Given the description of an element on the screen output the (x, y) to click on. 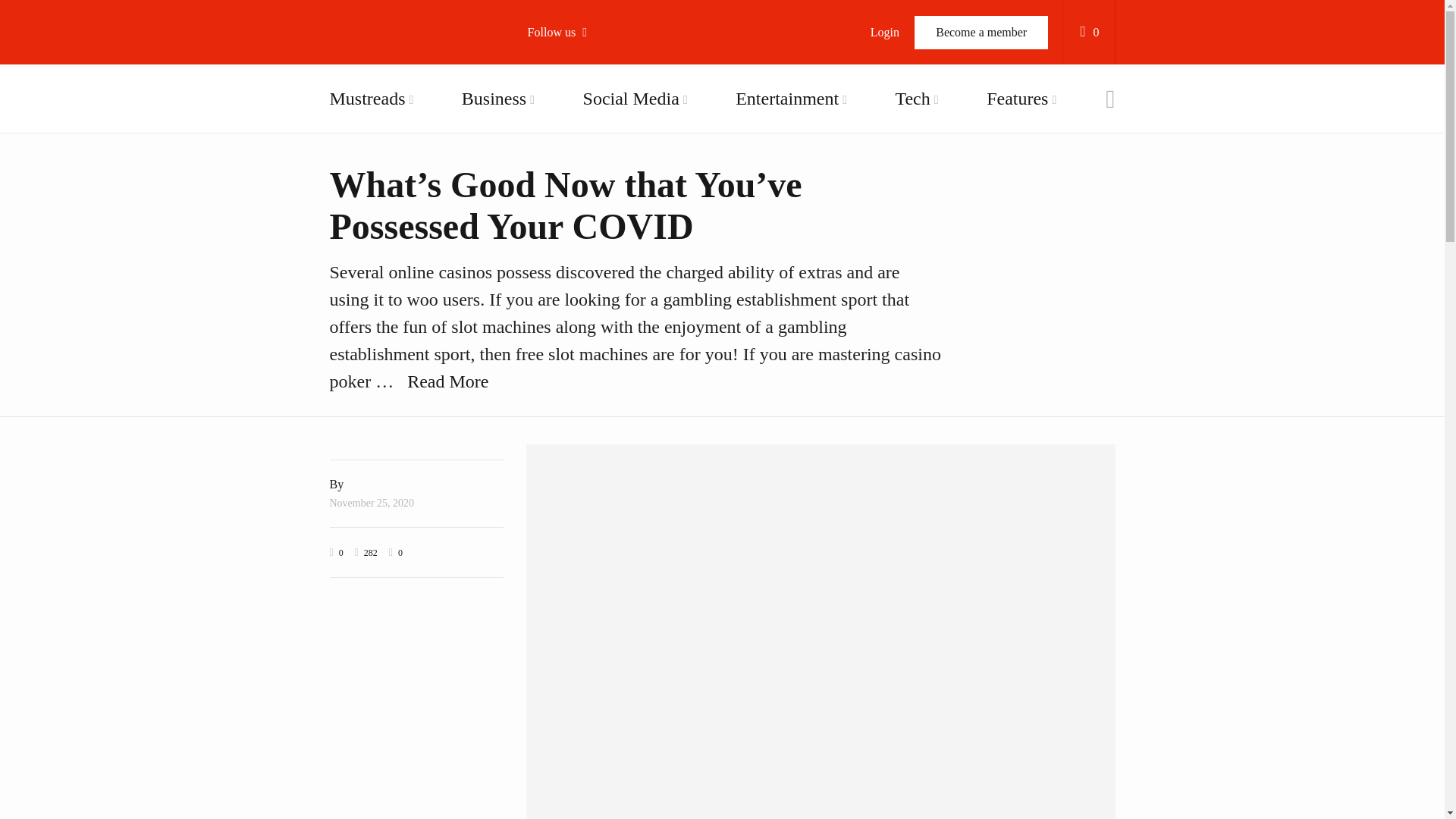
Follow us on Facebook (614, 83)
Follow us on Pinterest (614, 238)
Follow us (564, 32)
Become a member (981, 31)
Follow us on YouTube (614, 160)
Follow us on Twitter (614, 121)
Follow us on Vimeo (614, 199)
Follow us on Pinterest (614, 238)
Follow us on YouTube (614, 160)
Login (885, 32)
